Given the description of an element on the screen output the (x, y) to click on. 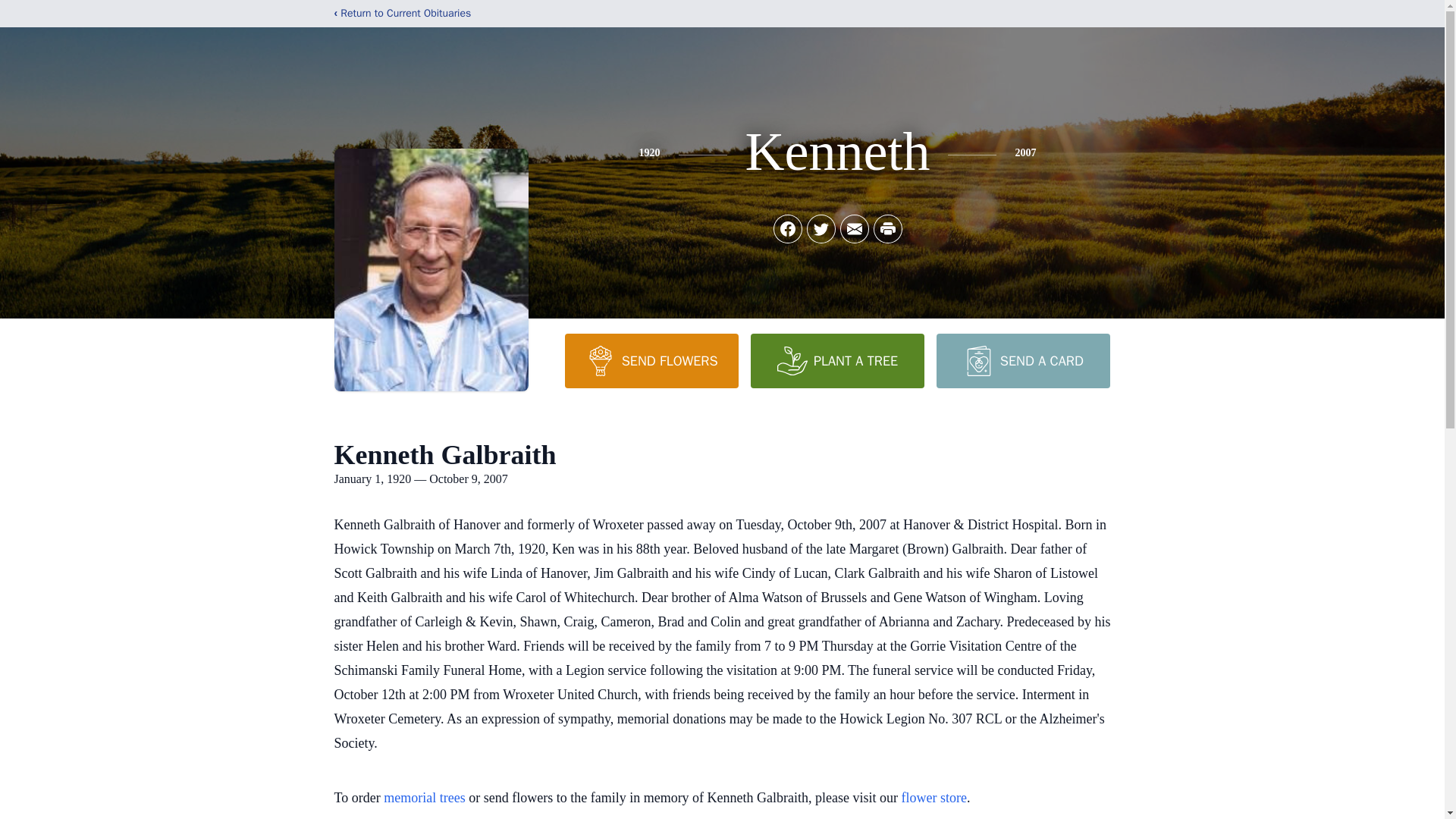
PLANT A TREE (837, 360)
memorial trees (424, 797)
flower store (933, 797)
SEND A CARD (1022, 360)
SEND FLOWERS (651, 360)
